Given the description of an element on the screen output the (x, y) to click on. 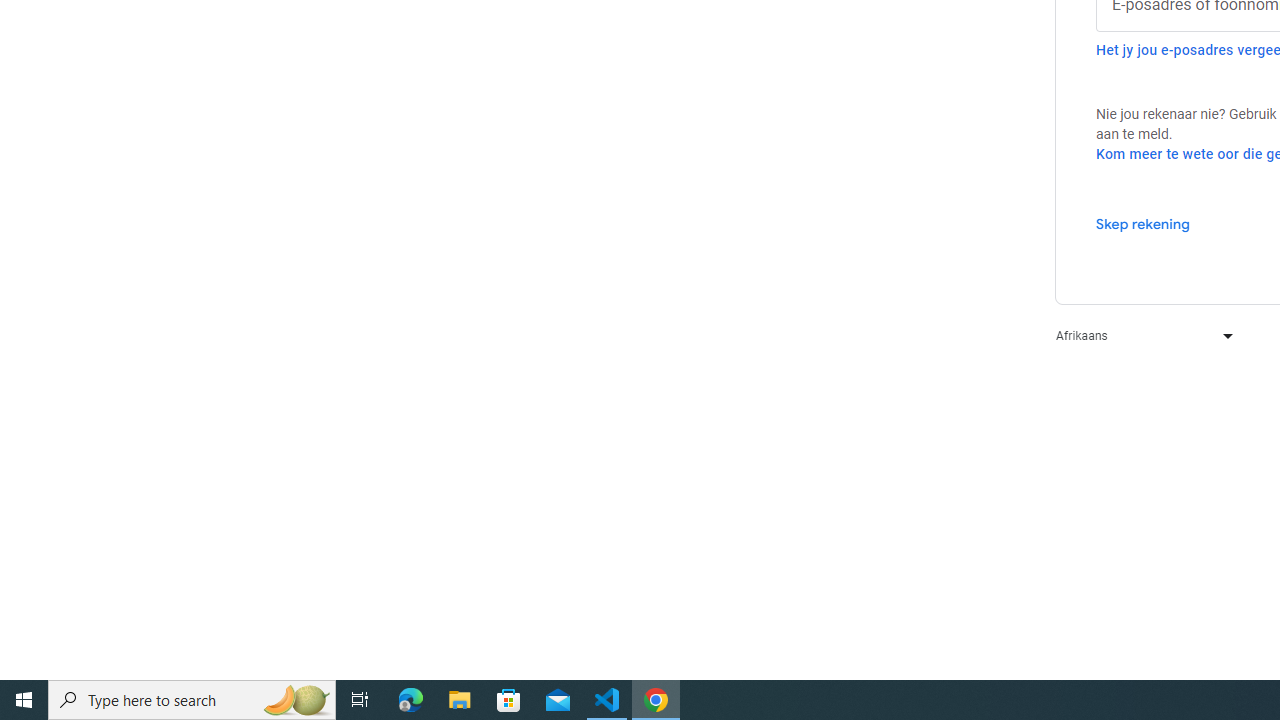
Afrikaans (1139, 335)
Skep rekening (1142, 223)
